Given the description of an element on the screen output the (x, y) to click on. 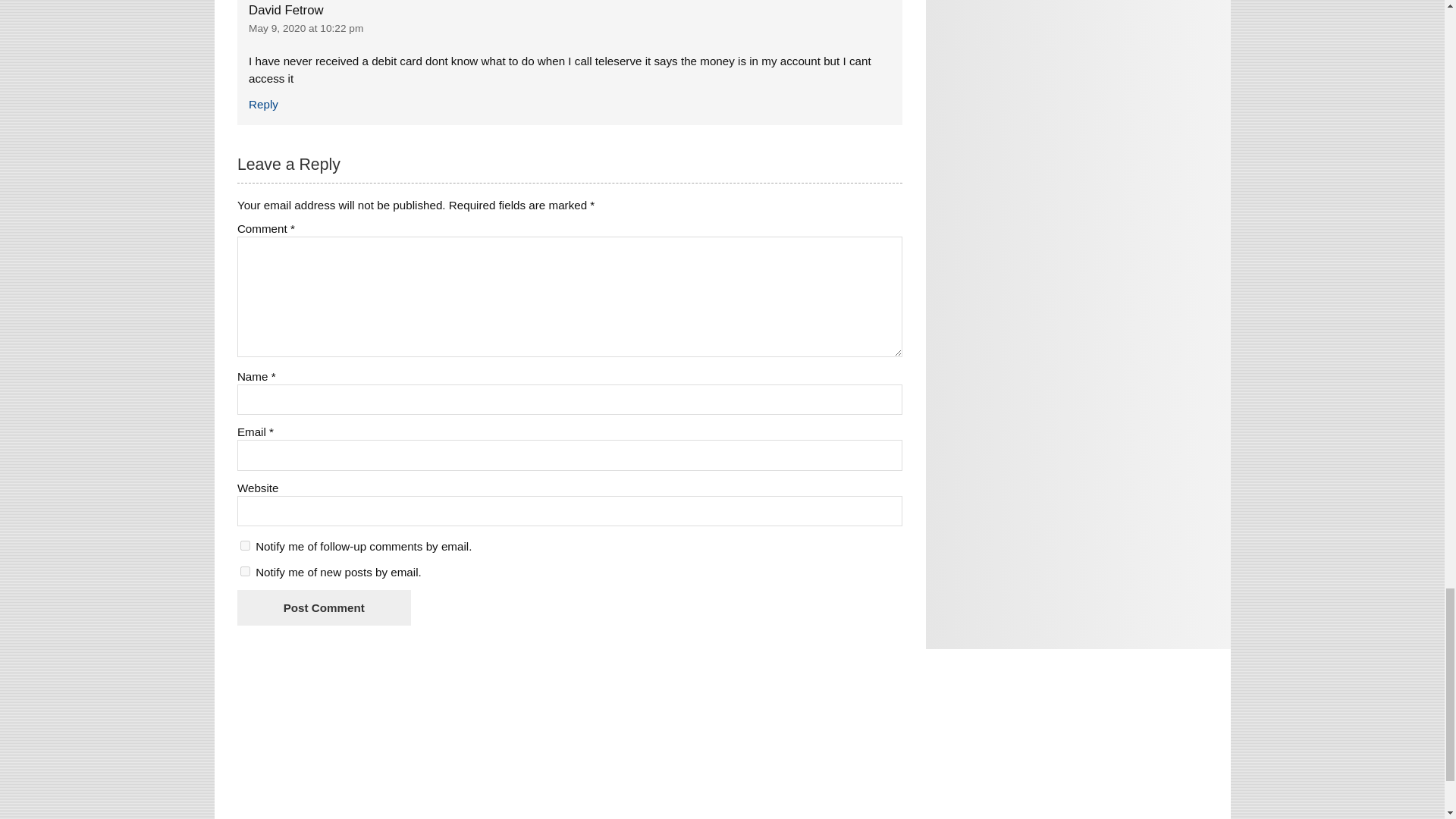
May 9, 2020 at 10:22 pm (305, 28)
subscribe (245, 545)
Post Comment (323, 607)
subscribe (245, 571)
Post Comment (323, 607)
Reply (263, 103)
